Given the description of an element on the screen output the (x, y) to click on. 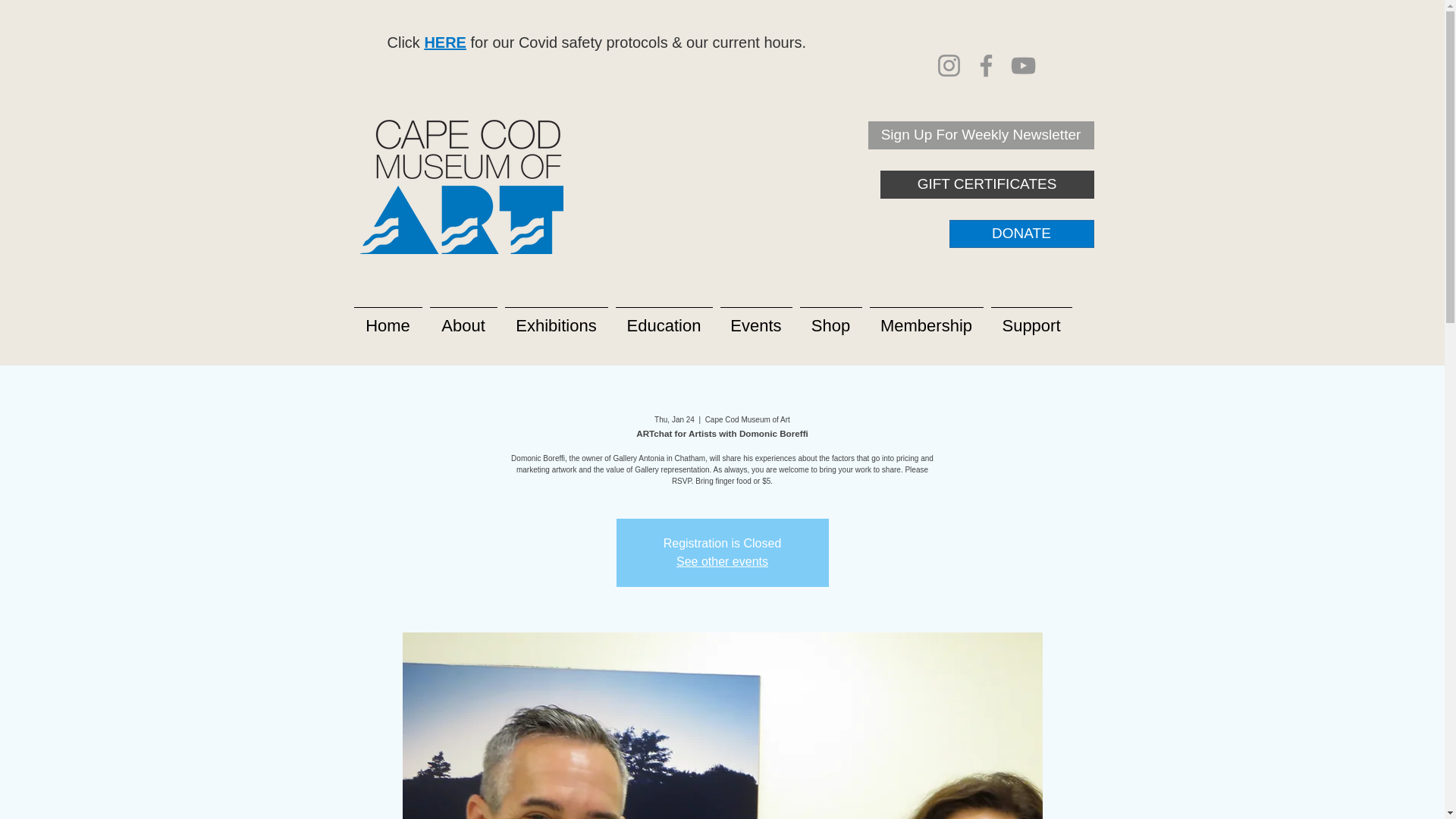
DONATE (1021, 234)
Sign Up For Weekly Newsletter (980, 135)
Home (388, 319)
GIFT CERTIFICATES (986, 184)
HERE (444, 42)
